Given the description of an element on the screen output the (x, y) to click on. 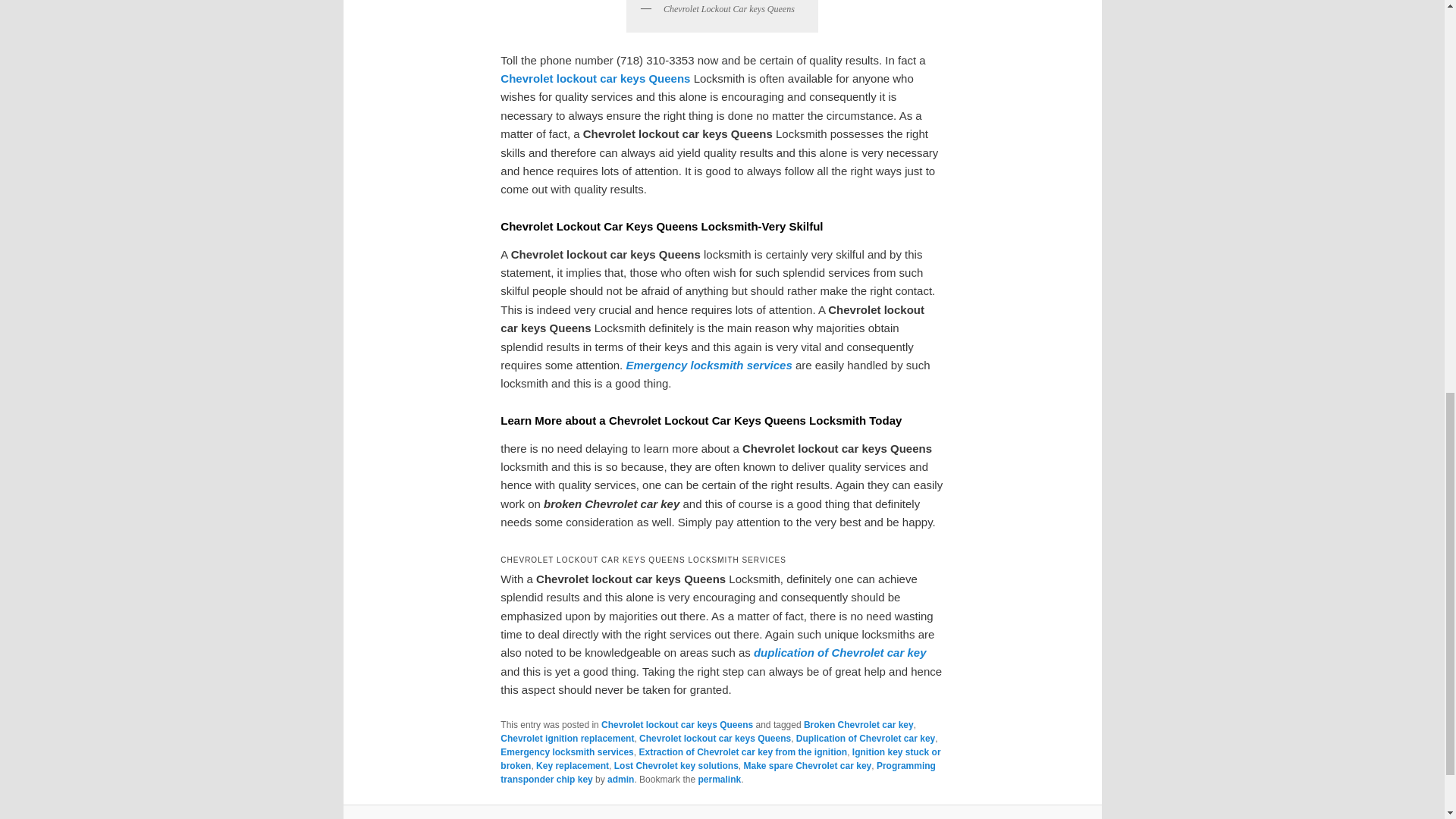
permalink (719, 778)
Chevrolet lockout car keys Queens (714, 738)
Chevrolet lockout car keys Queens (595, 78)
Duplication of Chevrolet car key (865, 738)
Programming transponder chip key (718, 772)
Lost Chevrolet key solutions (676, 765)
Broken Chevrolet car key (858, 724)
Emergency locksmith services (709, 364)
Chevrolet ignition replacement (566, 738)
Emergency locksmith services (566, 751)
